Given the description of an element on the screen output the (x, y) to click on. 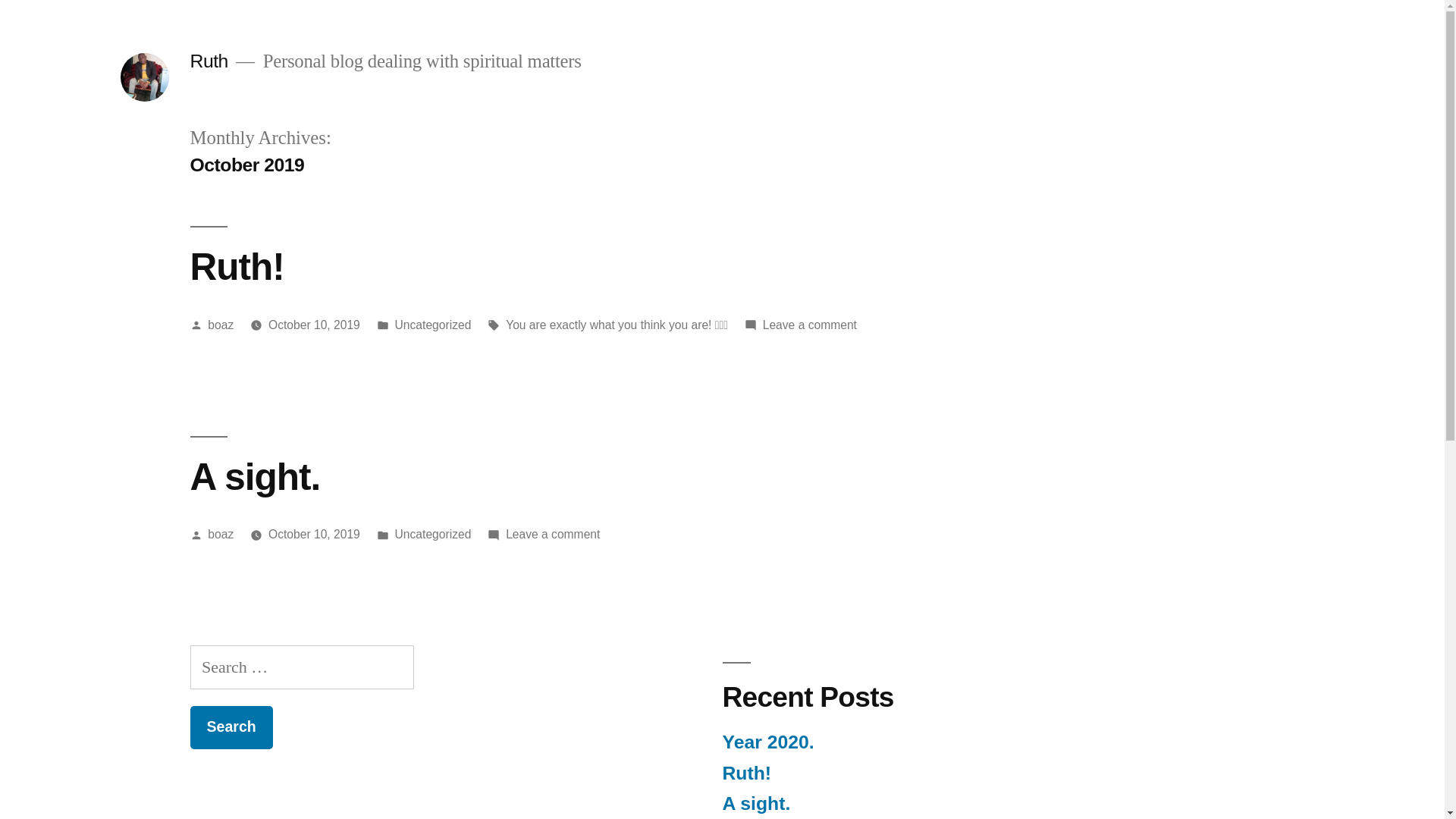
October 10, 2019 Element type: text (314, 533)
A sight. Element type: text (755, 803)
Ruth! Element type: text (236, 266)
Year 2020. Element type: text (767, 741)
boaz Element type: text (220, 533)
Uncategorized Element type: text (433, 533)
October 10, 2019 Element type: text (314, 324)
A sight. Element type: text (254, 476)
Ruth Element type: text (208, 60)
Leave a comment
on Ruth! Element type: text (809, 324)
boaz Element type: text (220, 324)
Uncategorized Element type: text (433, 324)
Ruth! Element type: text (746, 772)
Leave a comment
on A sight. Element type: text (552, 533)
Search Element type: text (230, 727)
